Given the description of an element on the screen output the (x, y) to click on. 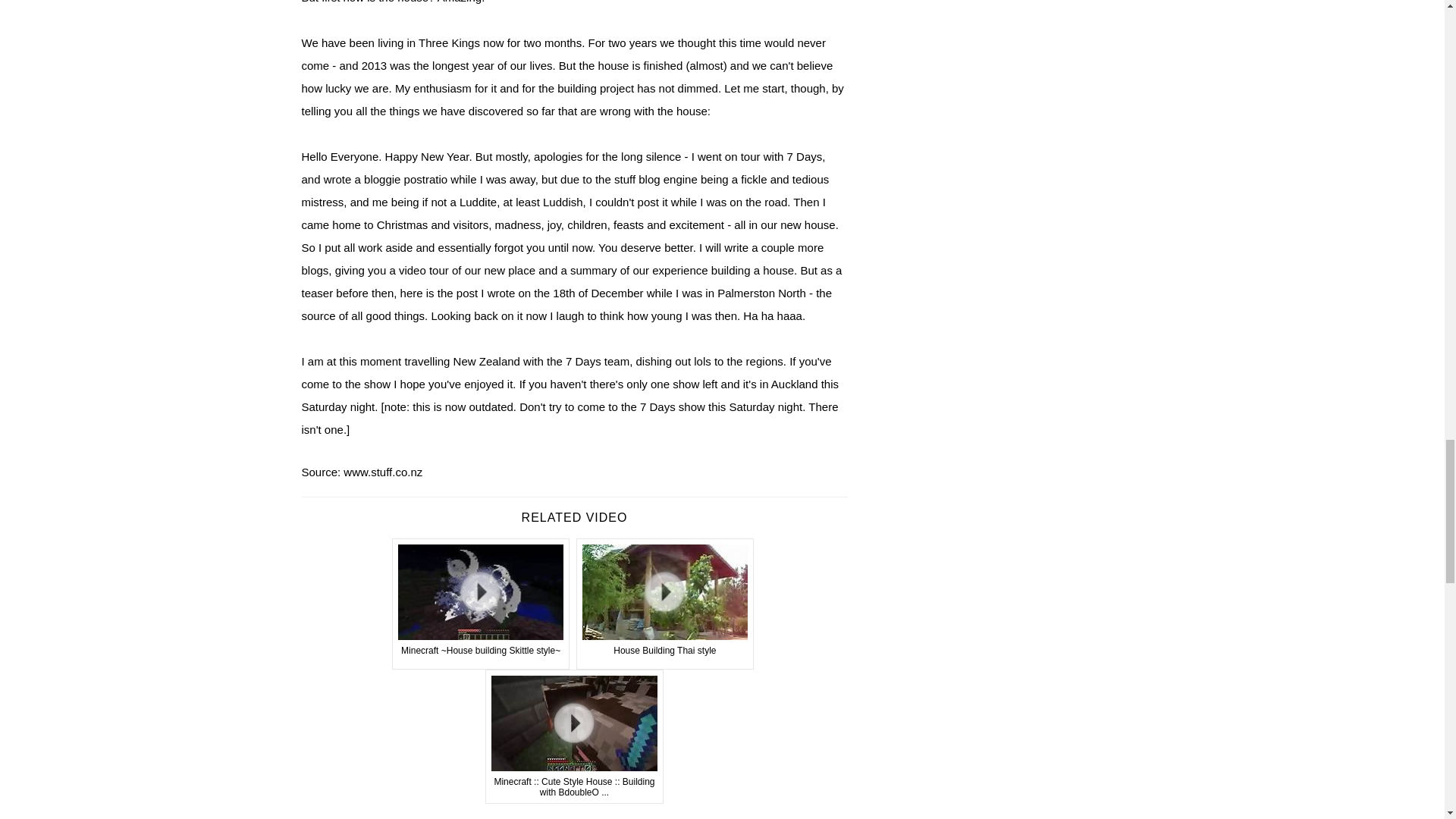
View this video from YouTube (665, 603)
View this video from YouTube (480, 603)
View this video from YouTube (573, 736)
